Given the description of an element on the screen output the (x, y) to click on. 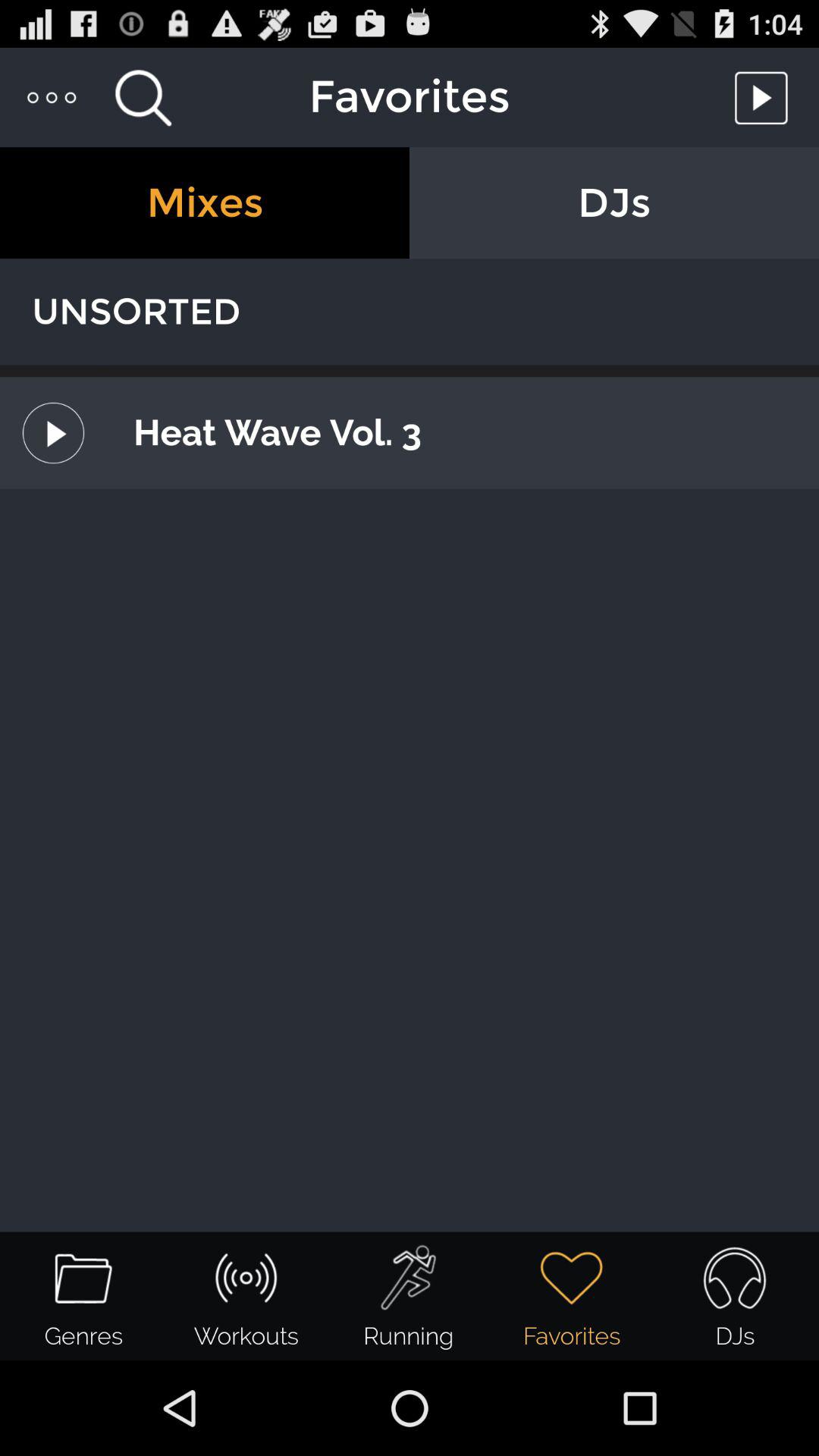
scroll until the unsorted item (409, 311)
